Given the description of an element on the screen output the (x, y) to click on. 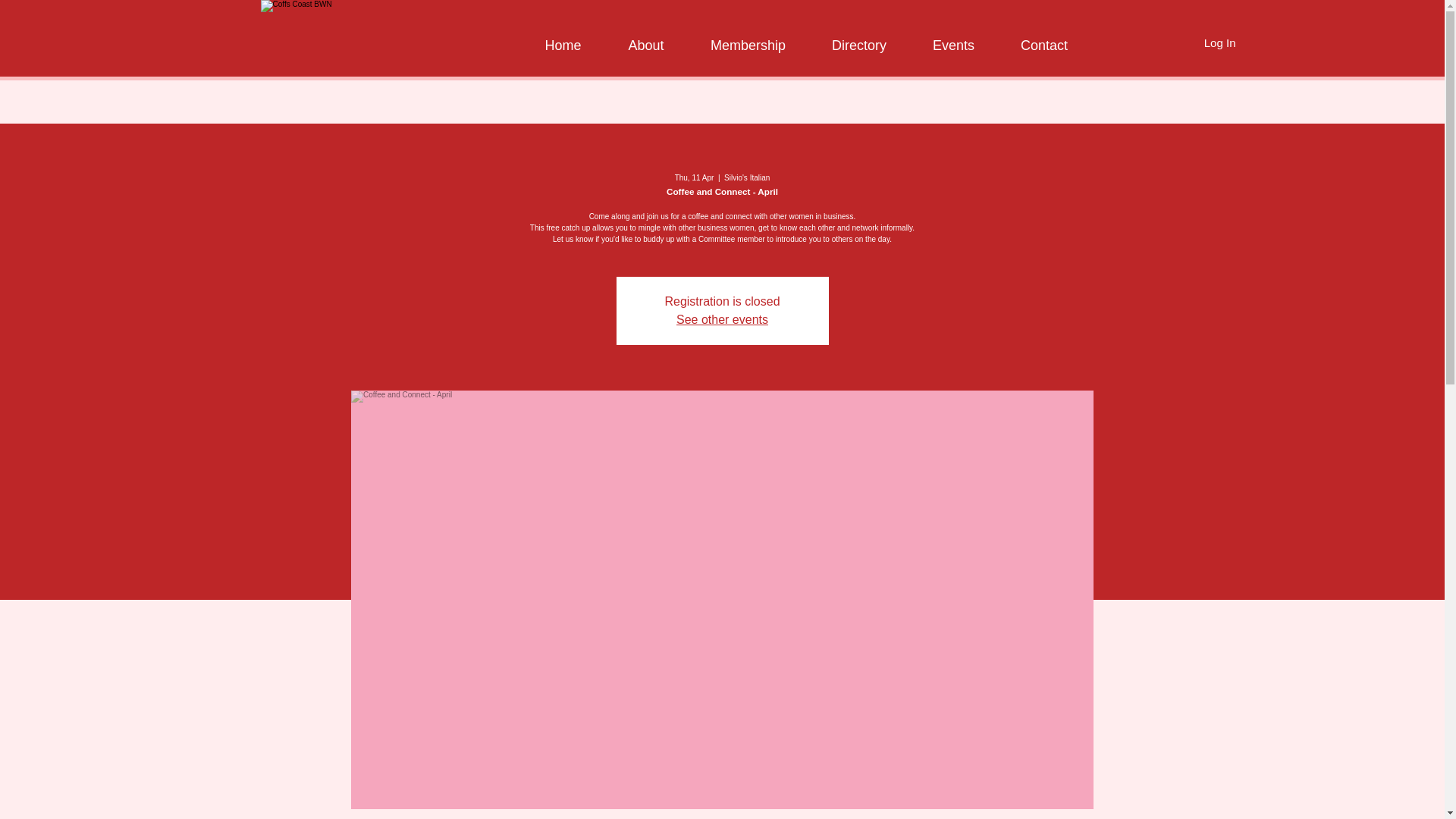
See other events (722, 318)
Directory (858, 38)
Events (953, 38)
Home (563, 38)
Contact (1043, 38)
Log In (1219, 42)
